Given the description of an element on the screen output the (x, y) to click on. 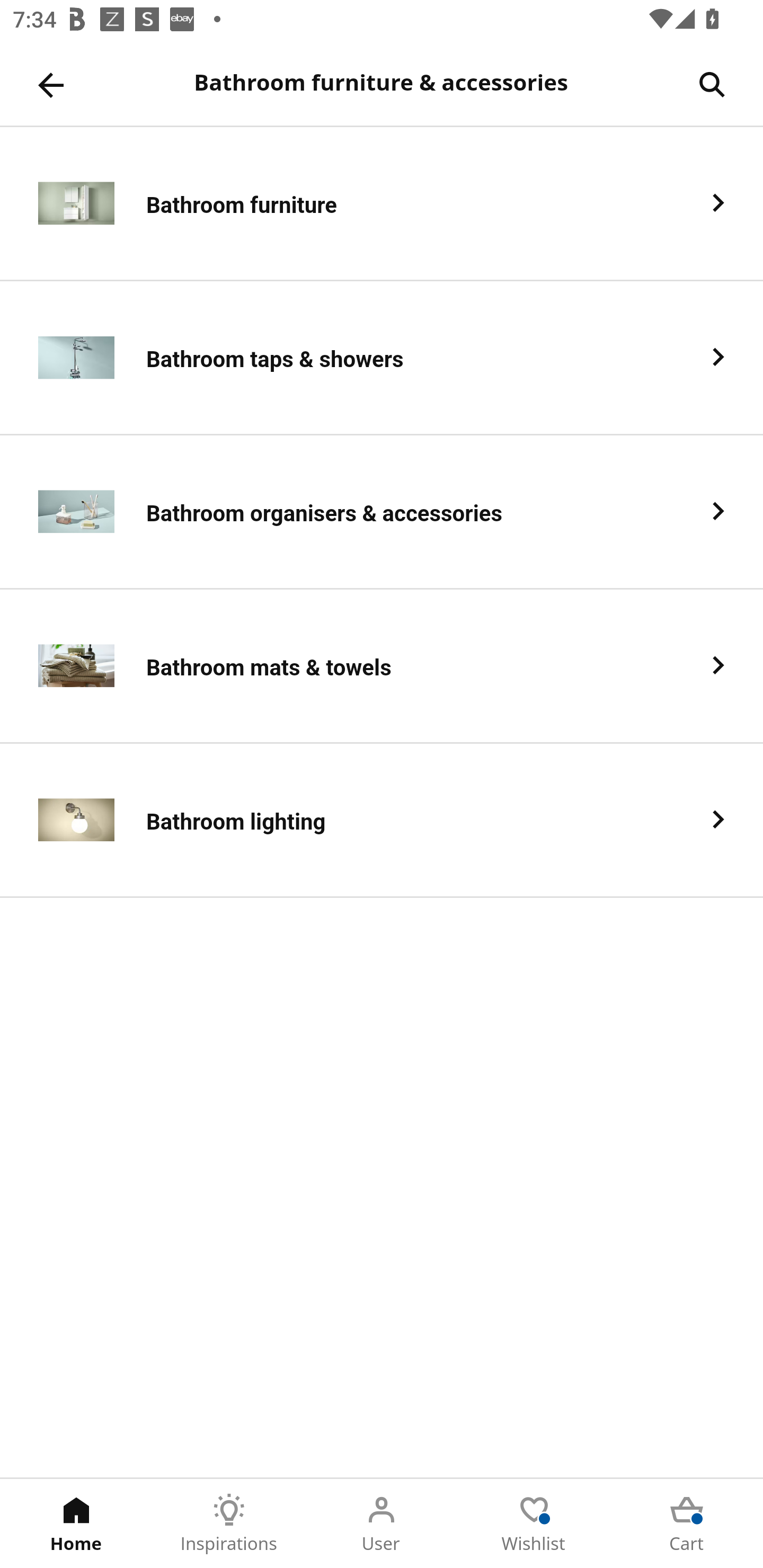
Bathroom furniture (381, 203)
Bathroom taps & showers (381, 357)
Bathroom organisers & accessories (381, 512)
Bathroom mats & towels (381, 666)
Bathroom lighting (381, 820)
Home
Tab 1 of 5 (76, 1522)
Inspirations
Tab 2 of 5 (228, 1522)
User
Tab 3 of 5 (381, 1522)
Wishlist
Tab 4 of 5 (533, 1522)
Cart
Tab 5 of 5 (686, 1522)
